Given the description of an element on the screen output the (x, y) to click on. 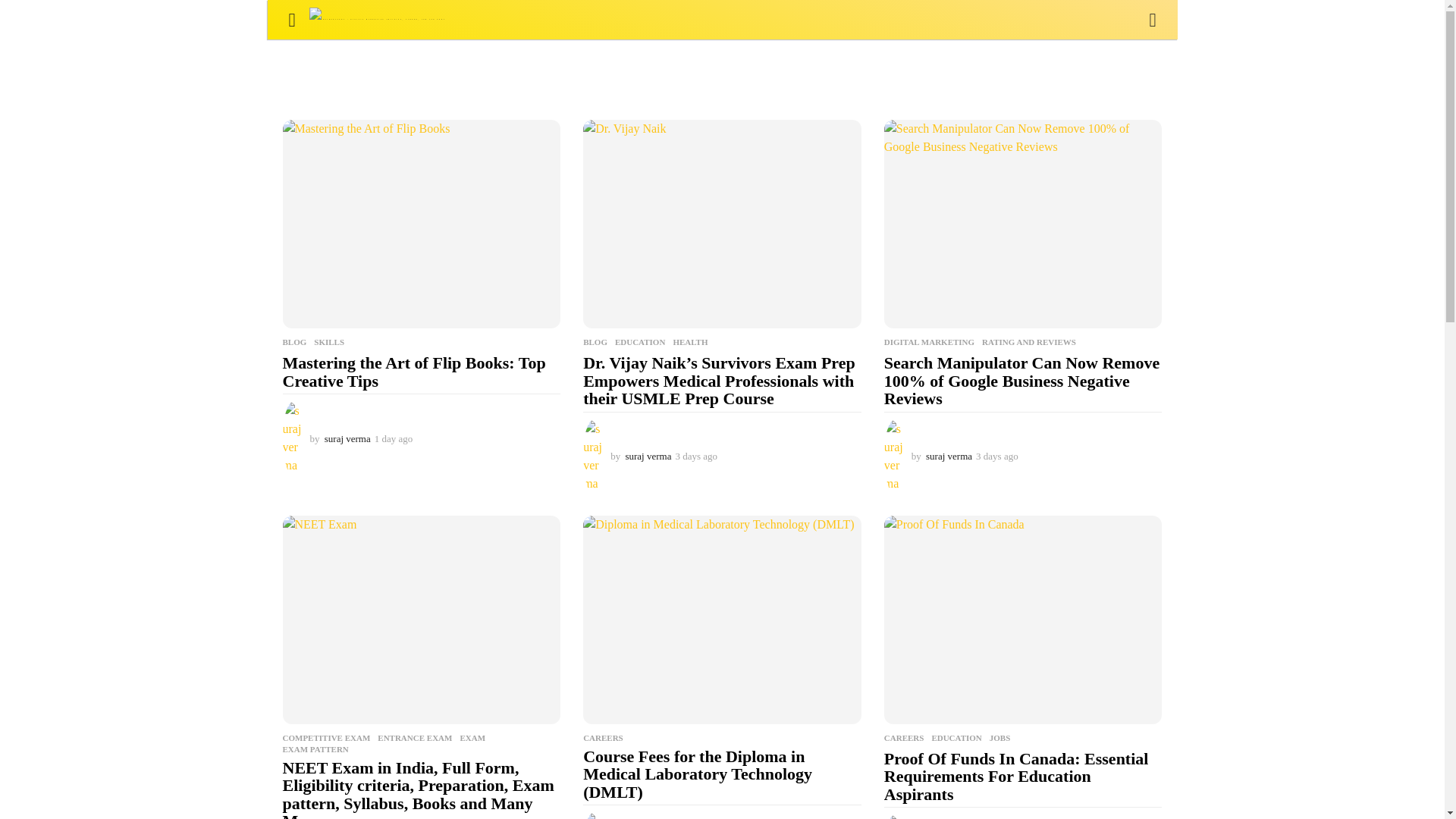
COMPETITIVE EXAM (325, 737)
Mastering the Art of Flip Books: Top Creative Tips (421, 223)
RATING AND REVIEWS (1028, 341)
suraj verma (949, 455)
suraj verma (647, 455)
SKILLS (328, 341)
DIGITAL MARKETING (928, 341)
EXAM (472, 737)
